Given the description of an element on the screen output the (x, y) to click on. 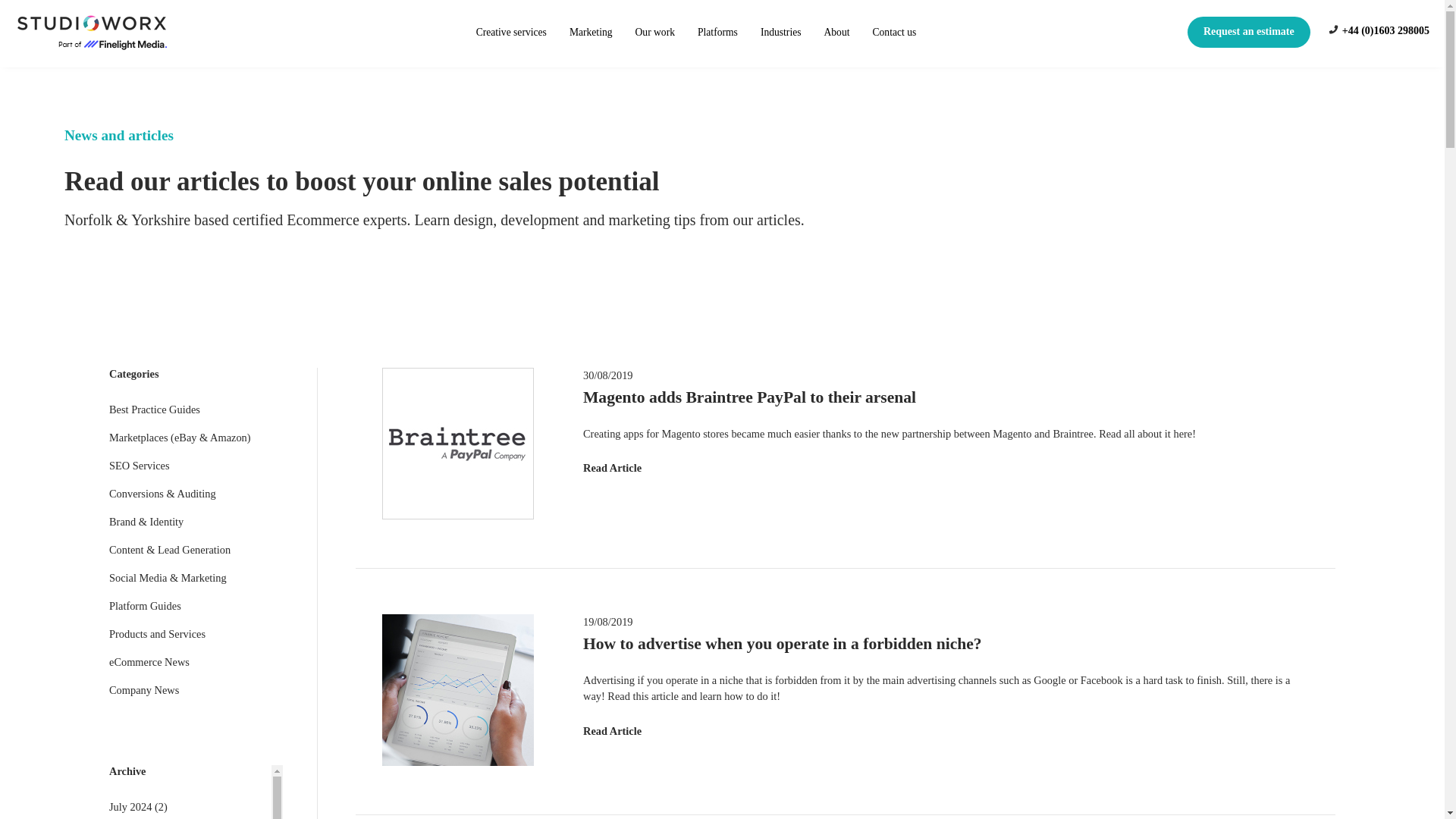
Our work (654, 32)
Industries (780, 32)
Marketing (590, 32)
Creative services (510, 32)
Marketing (590, 32)
Platforms (717, 32)
Creative services (510, 32)
